Given the description of an element on the screen output the (x, y) to click on. 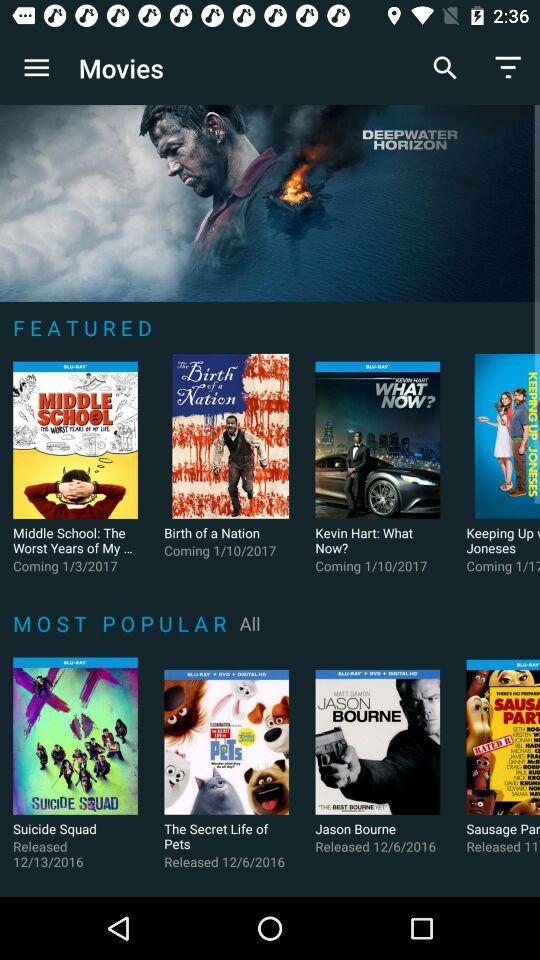
swipe to the m o s icon (122, 623)
